Given the description of an element on the screen output the (x, y) to click on. 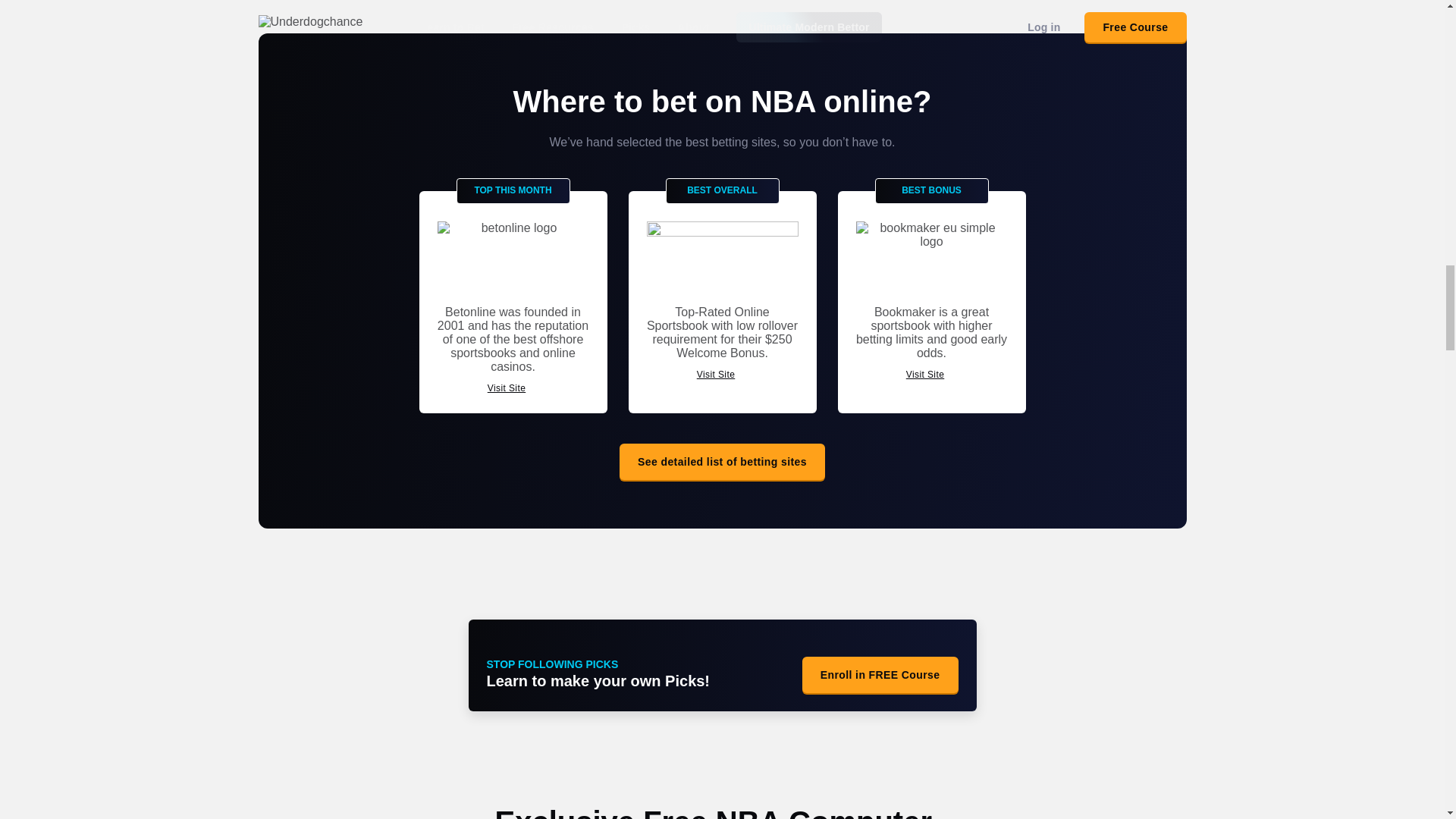
Enroll in FREE Course (880, 674)
Visit Site (721, 375)
See detailed list of betting sites (722, 461)
Visit Site (512, 388)
Visit Site (931, 375)
